Given the description of an element on the screen output the (x, y) to click on. 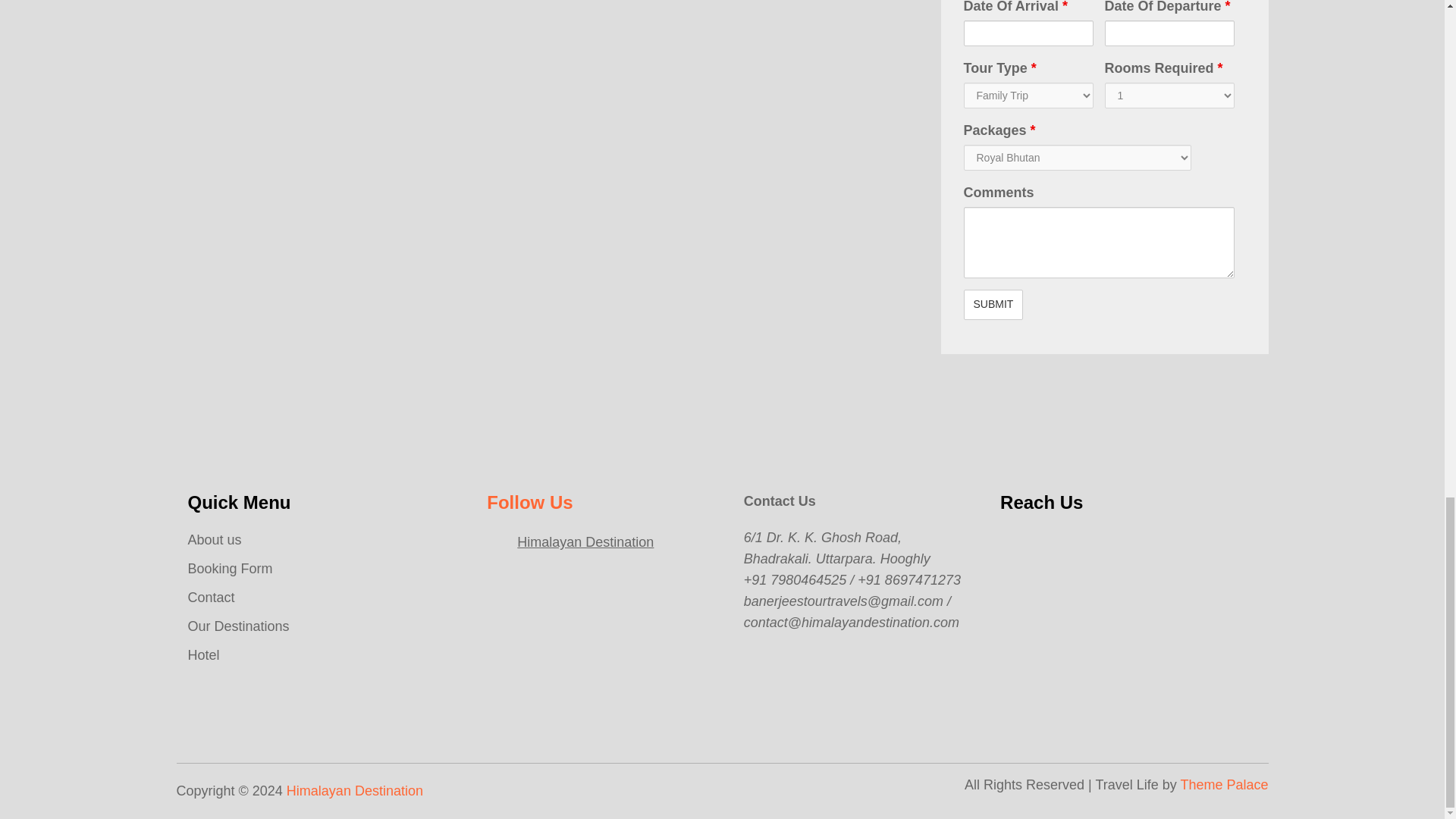
Himalayan Destination (584, 541)
Contact (210, 597)
Submit (992, 304)
Our Destinations (238, 626)
About us (214, 539)
Booking Form (230, 568)
Submit (992, 304)
Hotel (203, 654)
